Given the description of an element on the screen output the (x, y) to click on. 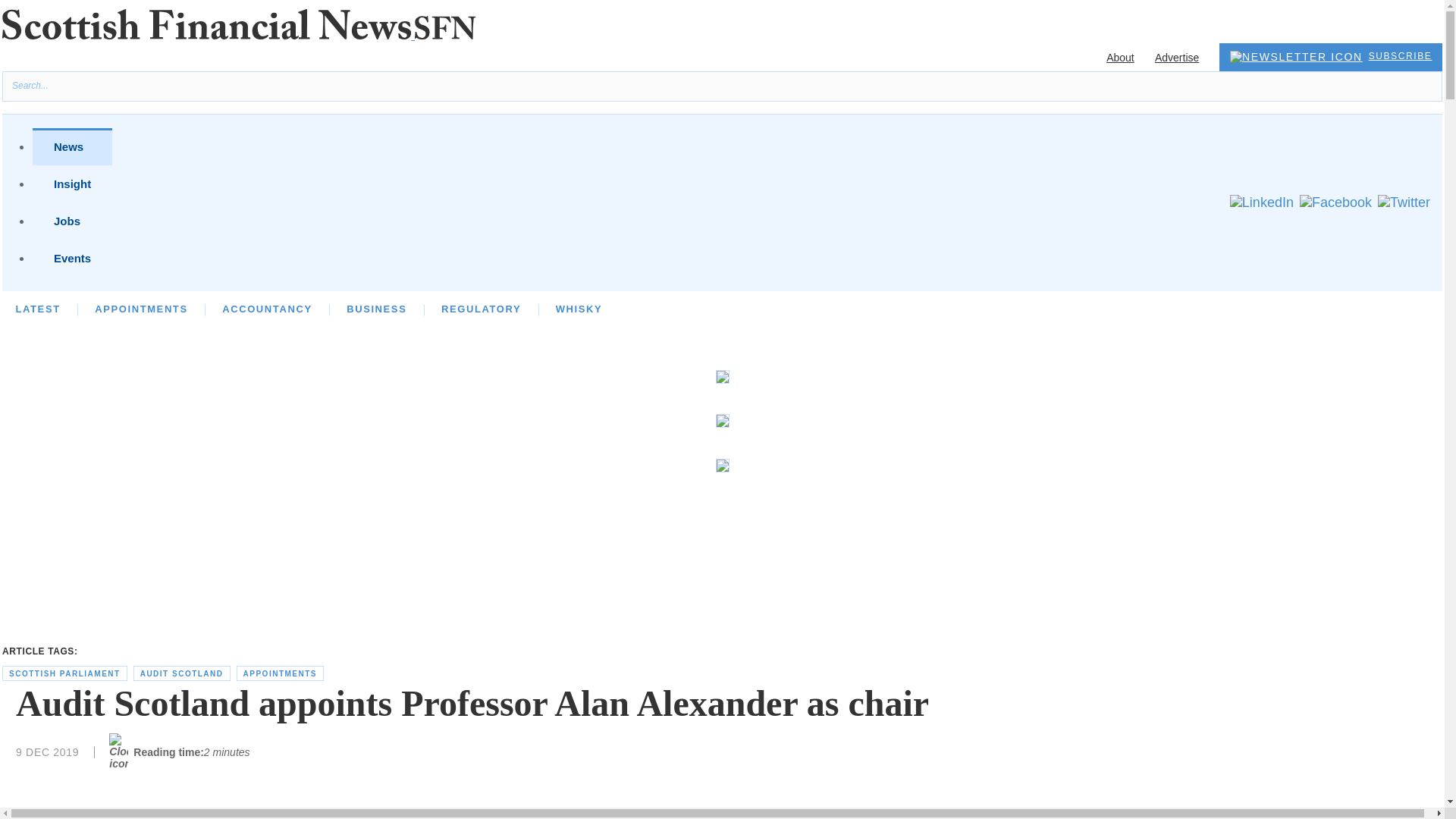
LATEST (36, 308)
REGULATORY (481, 308)
Jobs (72, 220)
INTERVIEWS (216, 308)
OPINION (119, 308)
Insight (72, 183)
Events (72, 257)
APPOINTMENTS (140, 308)
BUSINESS (376, 308)
ACCOUNTANCY (266, 308)
SUBSCRIBE (1331, 57)
News (72, 146)
WHISKY (579, 308)
Advertise (1176, 57)
About (1120, 57)
